Given the description of an element on the screen output the (x, y) to click on. 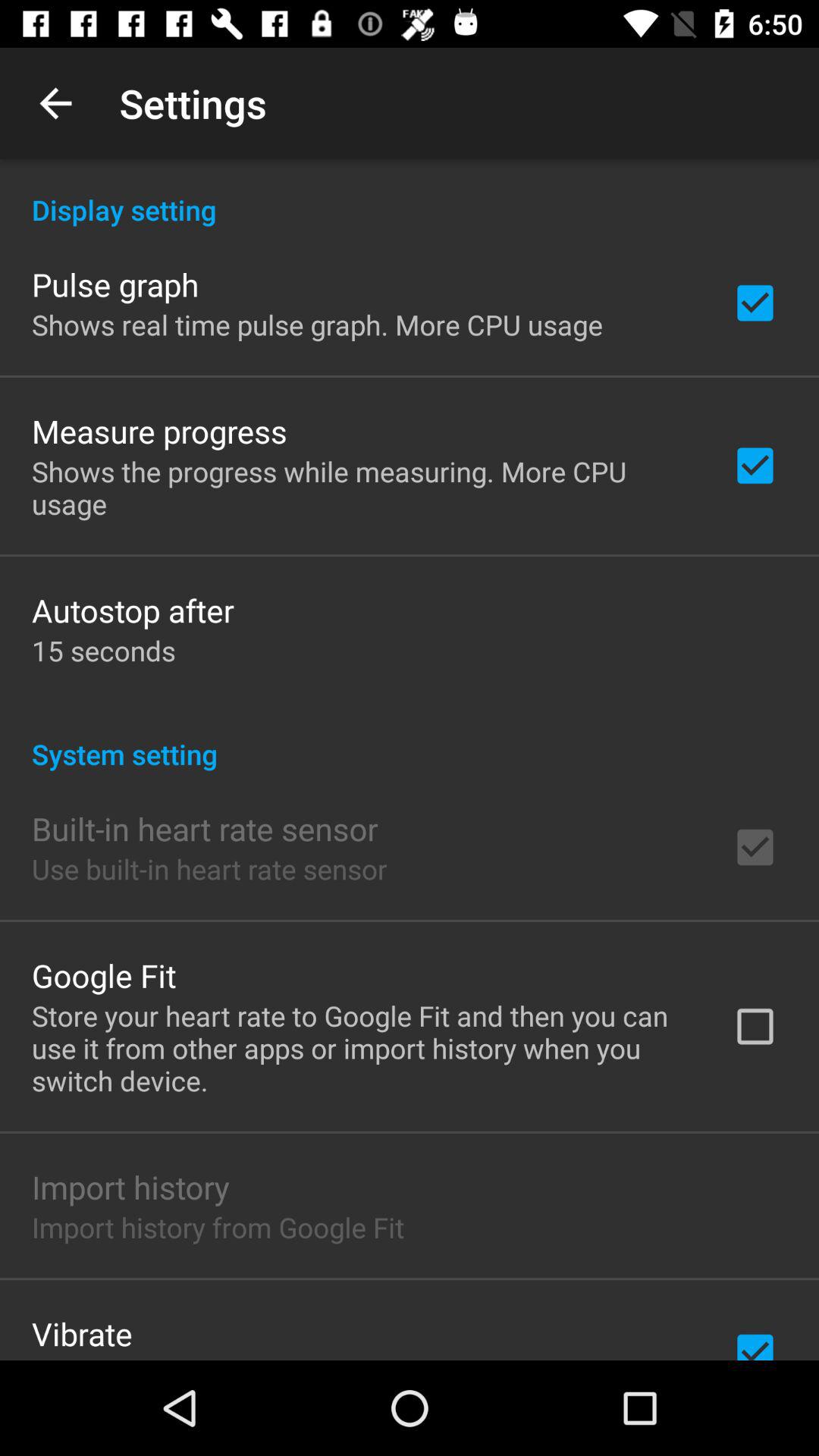
turn on the item above the display setting icon (55, 103)
